Given the description of an element on the screen output the (x, y) to click on. 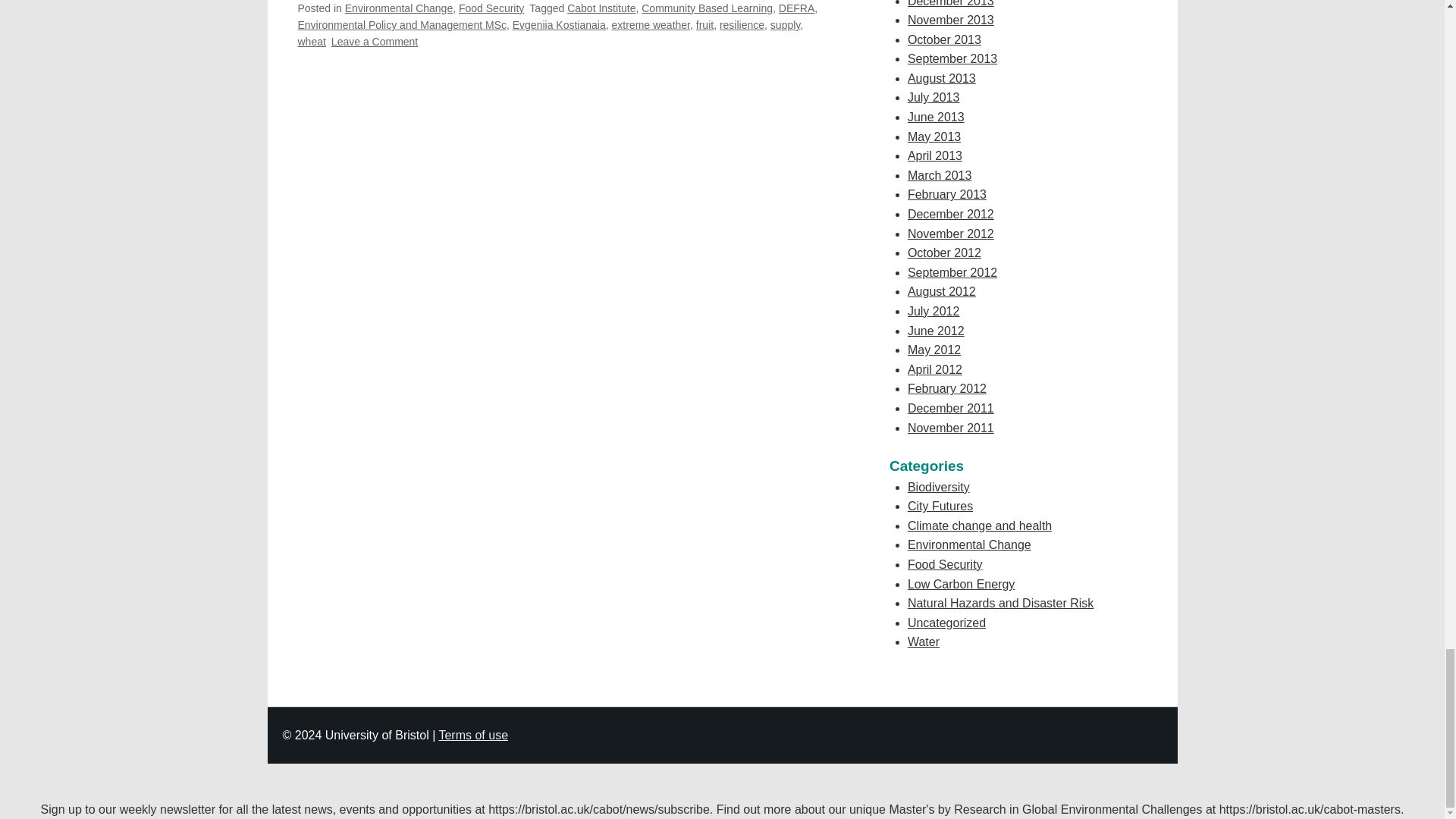
resilience (741, 24)
Cabot Institute (600, 8)
extreme weather (650, 24)
Community Based Learning (707, 8)
Environmental Change (398, 8)
DEFRA (795, 8)
Food Security (491, 8)
Environmental Policy and Management MSc (401, 24)
fruit (704, 24)
Evgeniia Kostianaia (558, 24)
wheat (310, 41)
supply (784, 24)
